Given the description of an element on the screen output the (x, y) to click on. 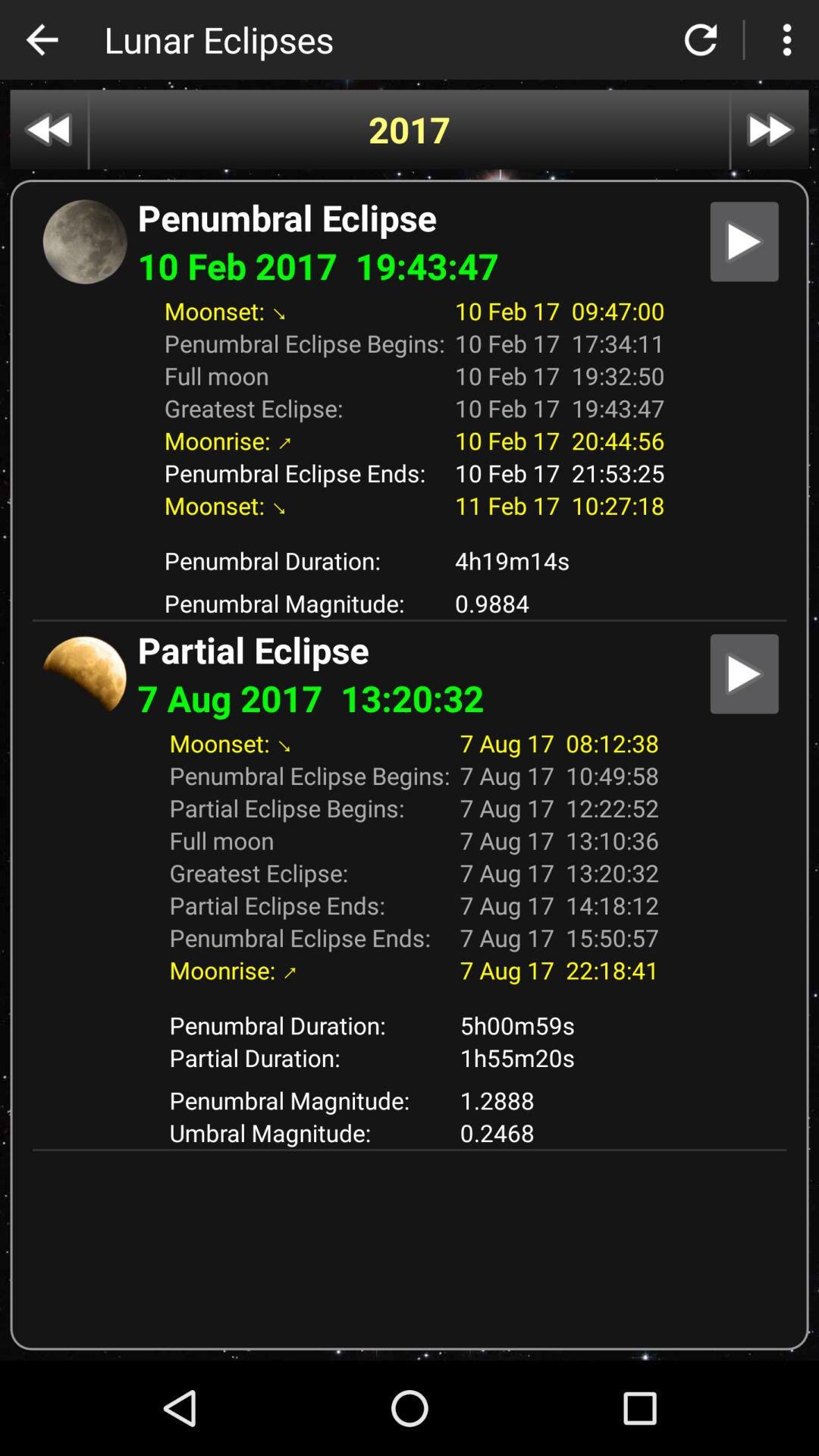
choose the icon to the left of the 1.2888 (309, 1132)
